Given the description of an element on the screen output the (x, y) to click on. 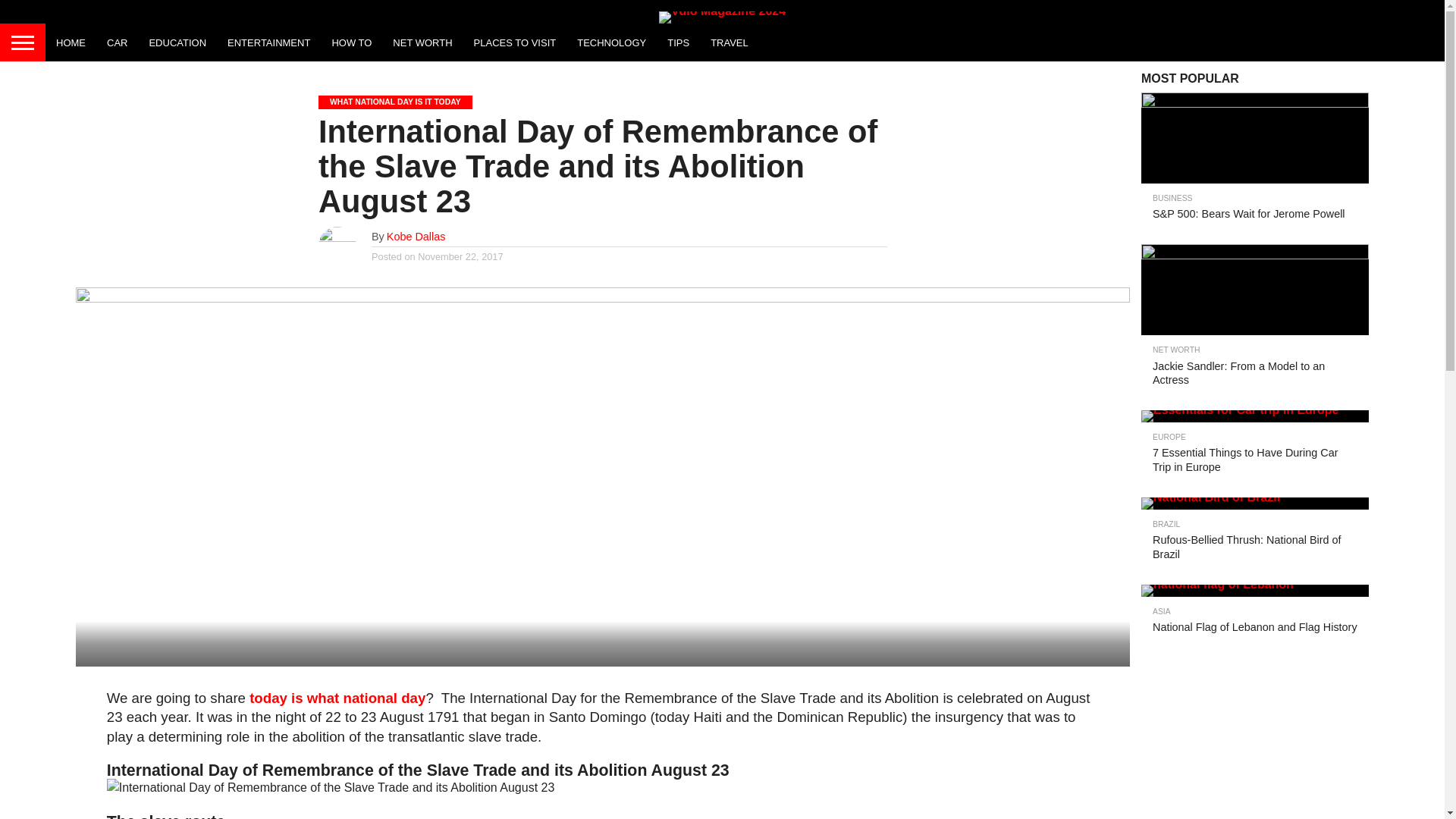
Posts by Kobe Dallas (416, 236)
NET WORTH (422, 42)
today is what national day (336, 697)
HOME (70, 42)
TECHNOLOGY (611, 42)
TIPS (678, 42)
TRAVEL (729, 42)
Kobe Dallas (416, 236)
CAR (117, 42)
EDUCATION (177, 42)
PLACES TO VISIT (515, 42)
HOW TO (350, 42)
ENTERTAINMENT (268, 42)
